Given the description of an element on the screen output the (x, y) to click on. 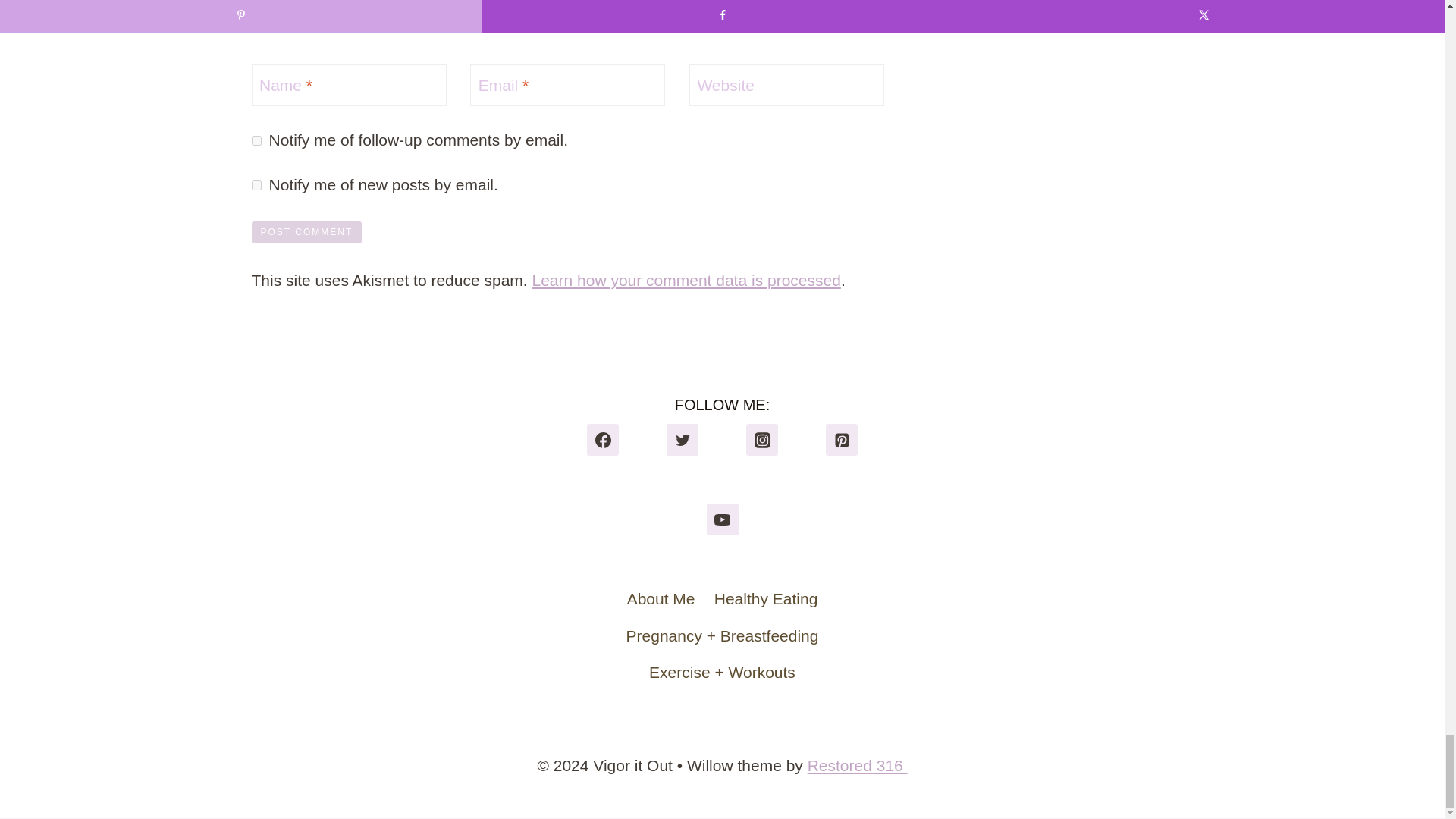
Post Comment (306, 232)
subscribe (256, 140)
subscribe (256, 185)
